Given the description of an element on the screen output the (x, y) to click on. 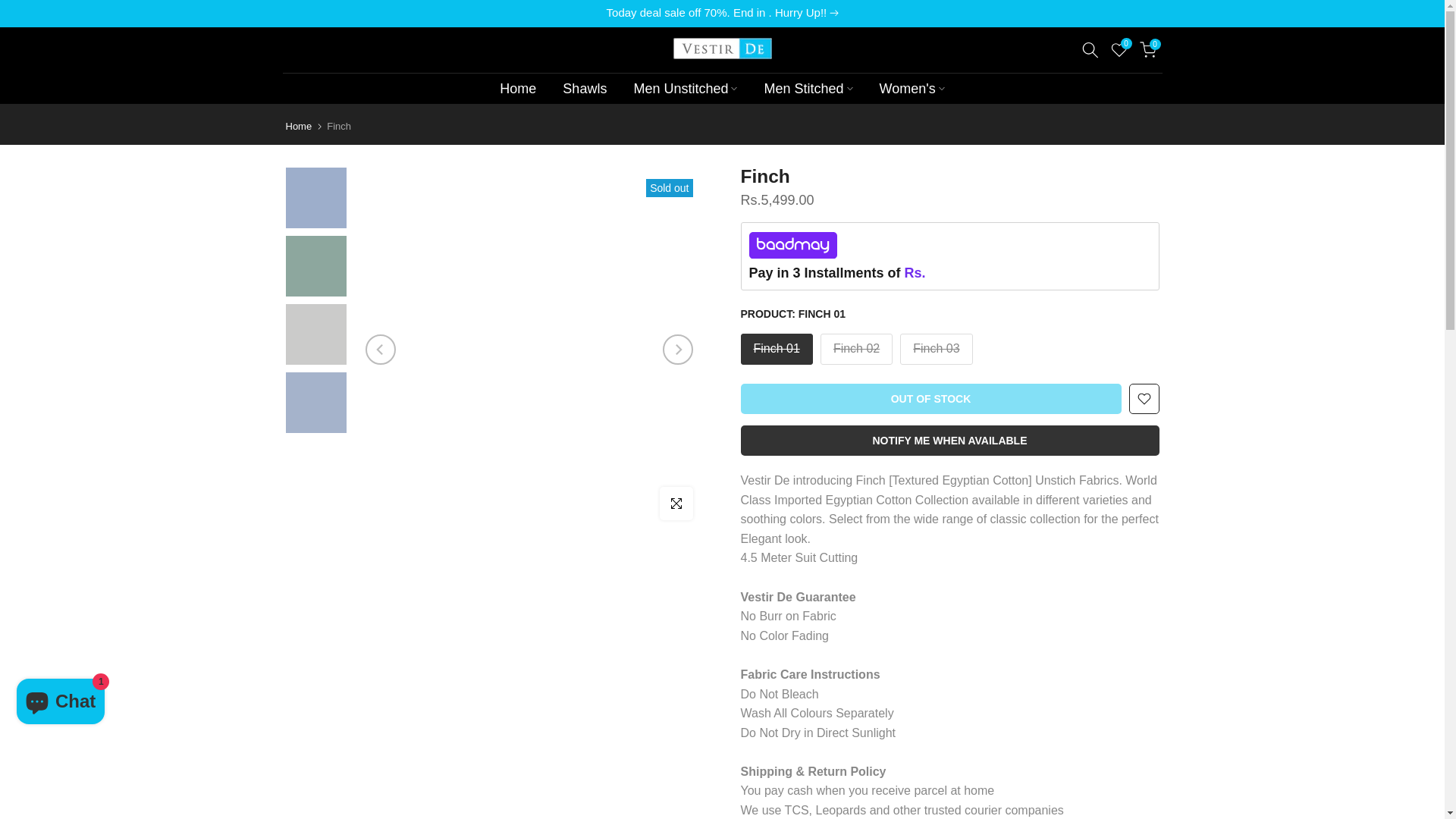
Men Unstitched (685, 87)
Home (518, 87)
Skip to content (10, 7)
Home (298, 126)
Shopify online store chat (60, 703)
0 (1147, 48)
Men Stitched (808, 87)
Shawls (585, 87)
0 (1117, 48)
Women's (912, 87)
